Given the description of an element on the screen output the (x, y) to click on. 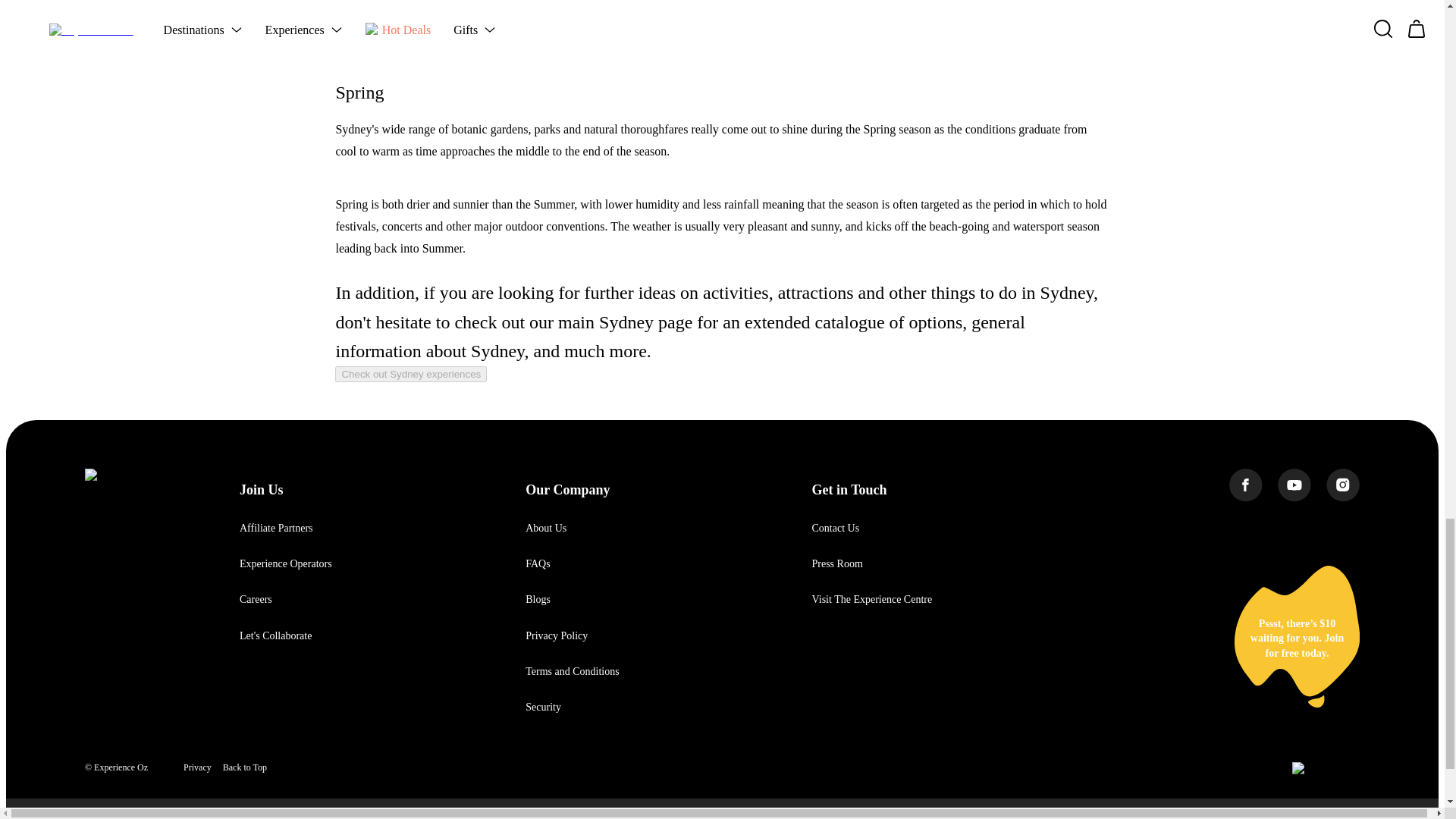
Privacy Policy (556, 635)
About Us (545, 527)
Let's Collaborate (275, 635)
Press Room (835, 563)
Affiliate Partners (276, 527)
Visit The Experience Centre (870, 599)
Experience Operators (285, 563)
Check out Sydney experiences (410, 374)
FAQs (537, 563)
Careers (256, 599)
Privacy (197, 767)
Terms and Conditions (571, 671)
Blogs (537, 599)
Contact Us (834, 527)
Security (542, 706)
